Given the description of an element on the screen output the (x, y) to click on. 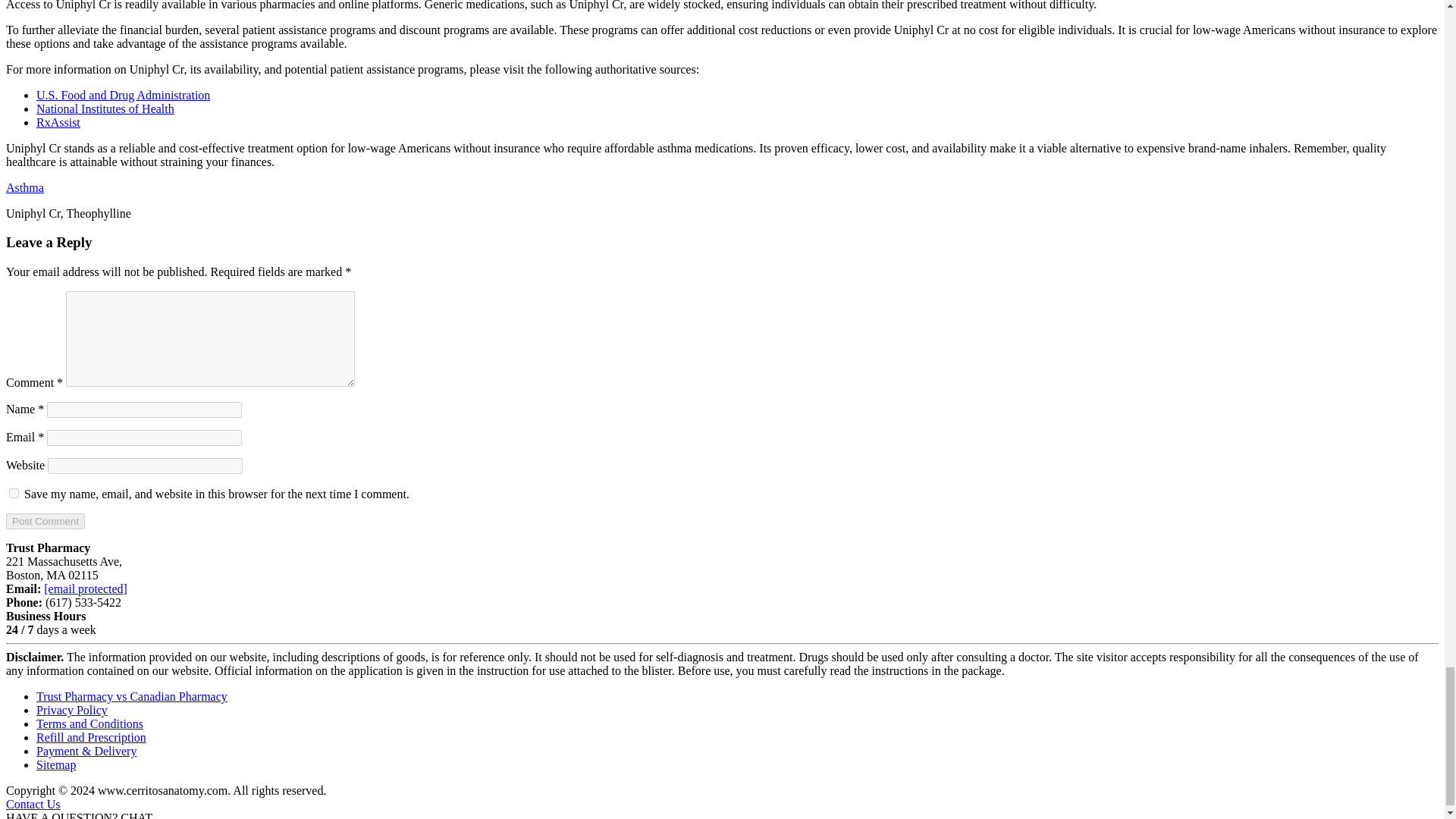
Contact Us (33, 803)
Sitemap (55, 764)
Privacy Policy (71, 709)
Terms and Conditions (89, 723)
Contact Us (33, 803)
Trust Pharmacy vs Canadian Pharmacy (131, 696)
Refill and Prescription (91, 737)
Post Comment (44, 521)
U.S. Food and Drug Administration (122, 94)
yes (13, 492)
Post Comment (44, 521)
Asthma (24, 187)
National Institutes of Health (105, 108)
RxAssist (58, 122)
